Given the description of an element on the screen output the (x, y) to click on. 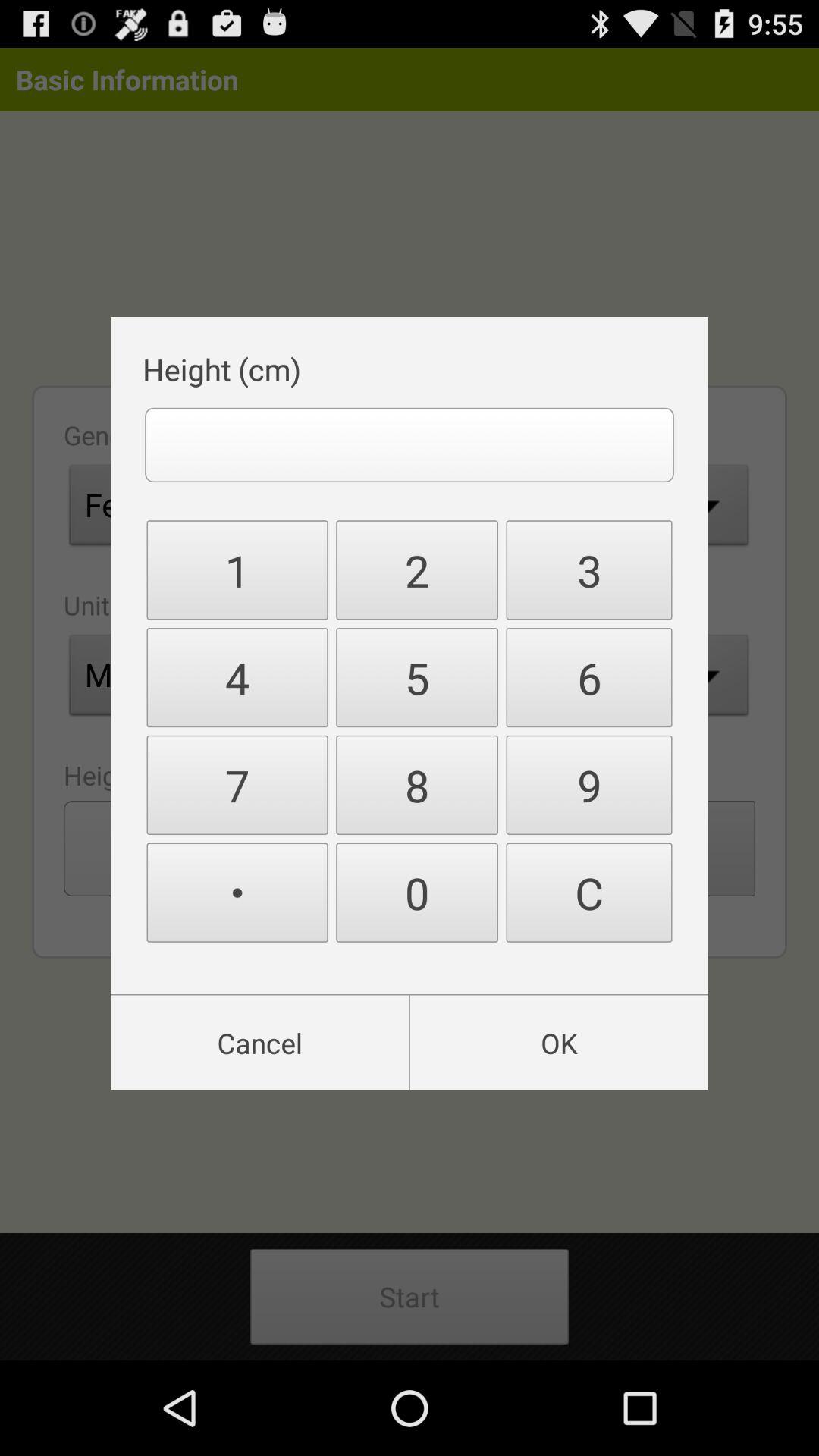
launch 2 button (417, 569)
